Given the description of an element on the screen output the (x, y) to click on. 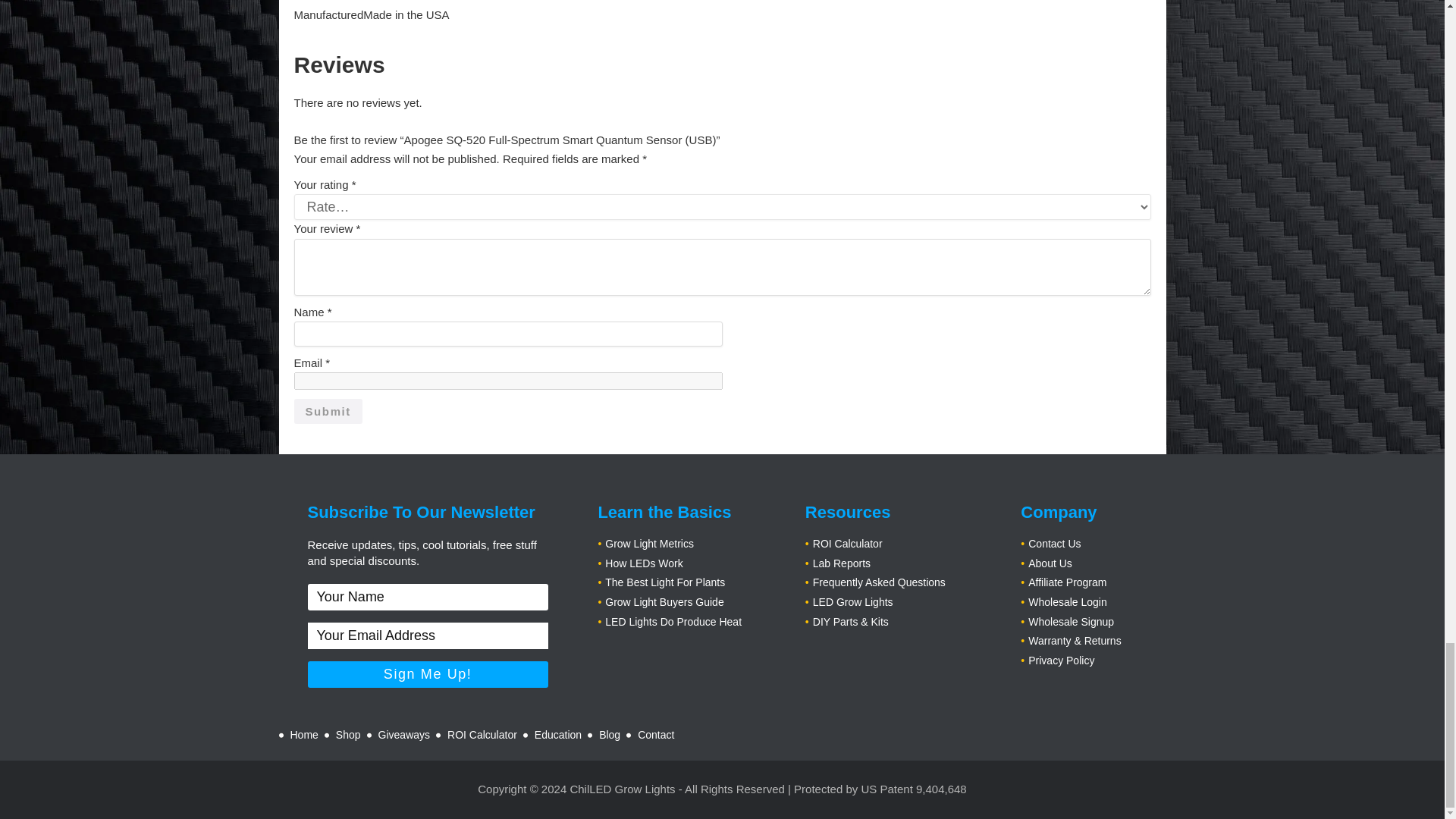
Sign Me Up! (427, 673)
Submit (328, 411)
